Given the description of an element on the screen output the (x, y) to click on. 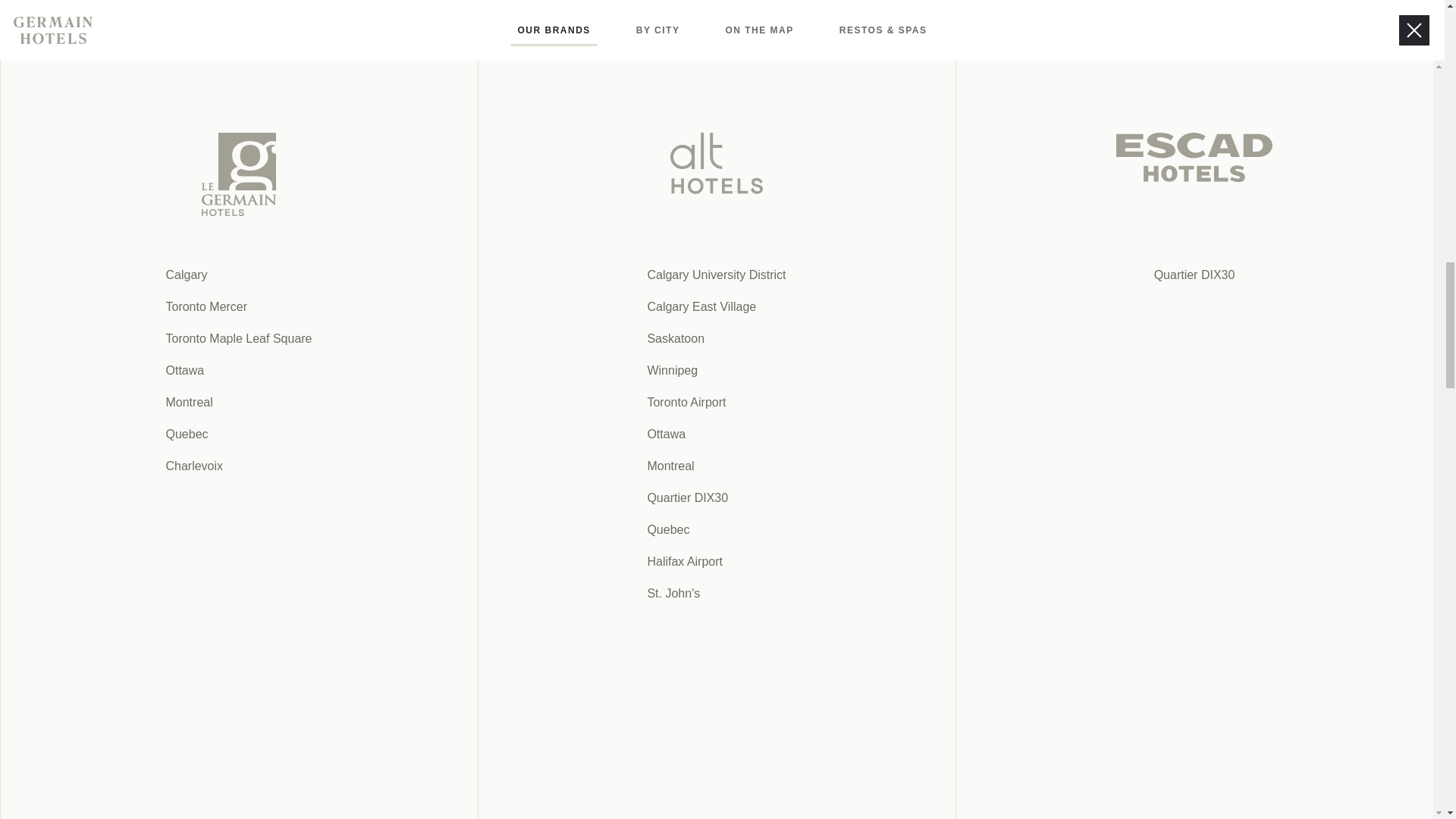
Hardpressed Print Studio (684, 151)
Cohen's Beer Republic (700, 338)
KIWANIS MEMORIAL PARK (587, 420)
UNA Pizza (880, 318)
TASTE RESTAURANT GROUP (596, 276)
Hazlewood (631, 564)
Kiwanis Memorial Park (587, 420)
Bar Gusto (580, 338)
Picaro (526, 338)
